Given the description of an element on the screen output the (x, y) to click on. 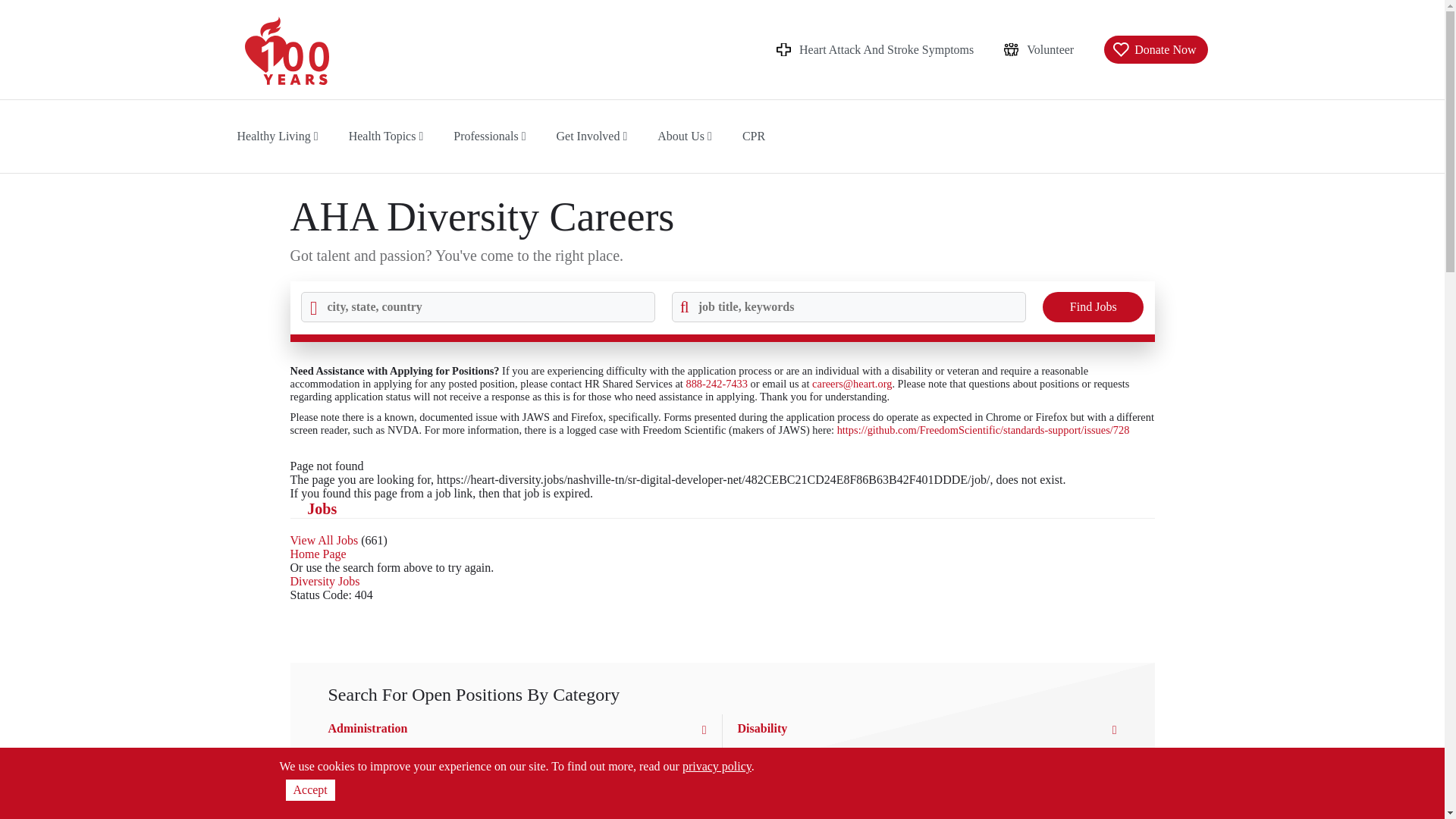
Find Jobs (1092, 306)
Health Topics (386, 135)
Accept (309, 789)
Search for Job Title or Keywords (848, 306)
Heart Attack And Stroke Symptoms (875, 48)
Donate Now (1155, 49)
Search for City, State, Country (476, 306)
Submit Search (1092, 306)
Healthy Living (276, 135)
Volunteer (1039, 48)
privacy policy (716, 766)
